Given the description of an element on the screen output the (x, y) to click on. 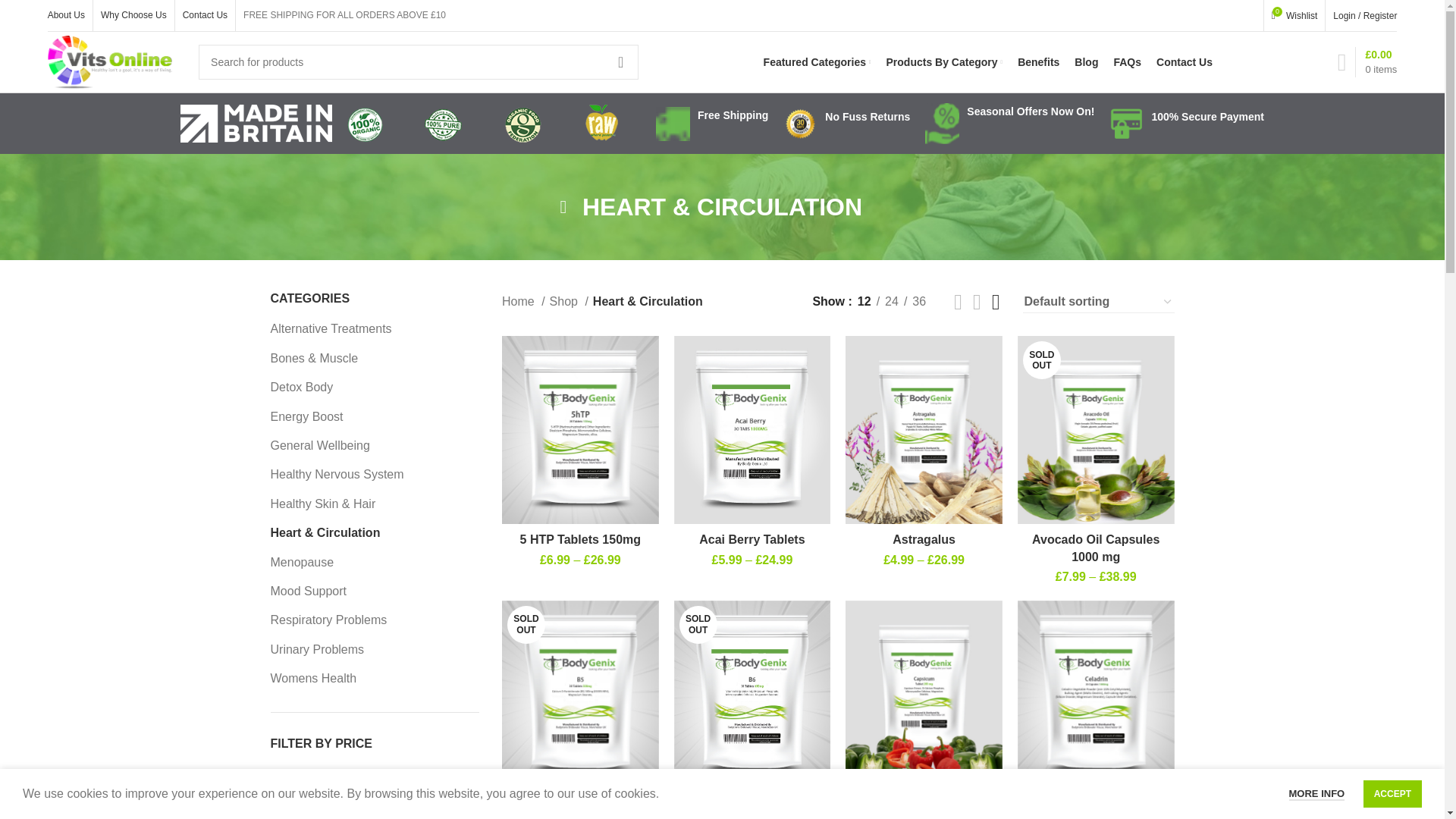
Benefits (1038, 61)
Contact Us (205, 15)
Why Choose Us (133, 15)
Contact Us (1184, 61)
Alternative Treatments (364, 328)
Search for products (418, 62)
Energy Boost (364, 416)
Products By Category (944, 61)
Featured Categories (816, 61)
SEARCH (621, 62)
FAQs (1127, 61)
Shopping cart (1367, 61)
My Wishlist (1293, 15)
About Us (1293, 15)
